Given the description of an element on the screen output the (x, y) to click on. 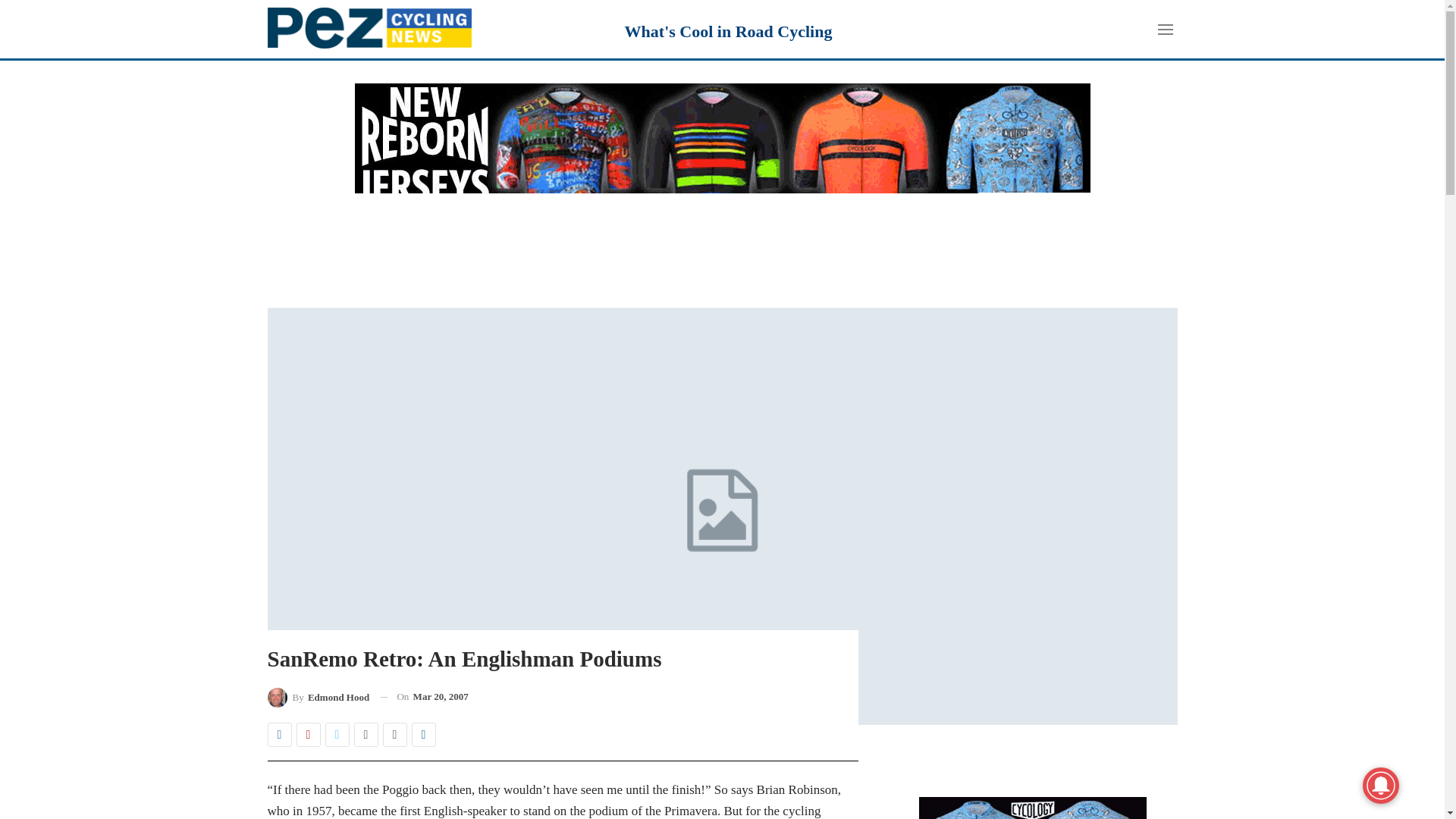
By Edmond Hood (317, 697)
Browse Author Articles (317, 697)
